Given the description of an element on the screen output the (x, y) to click on. 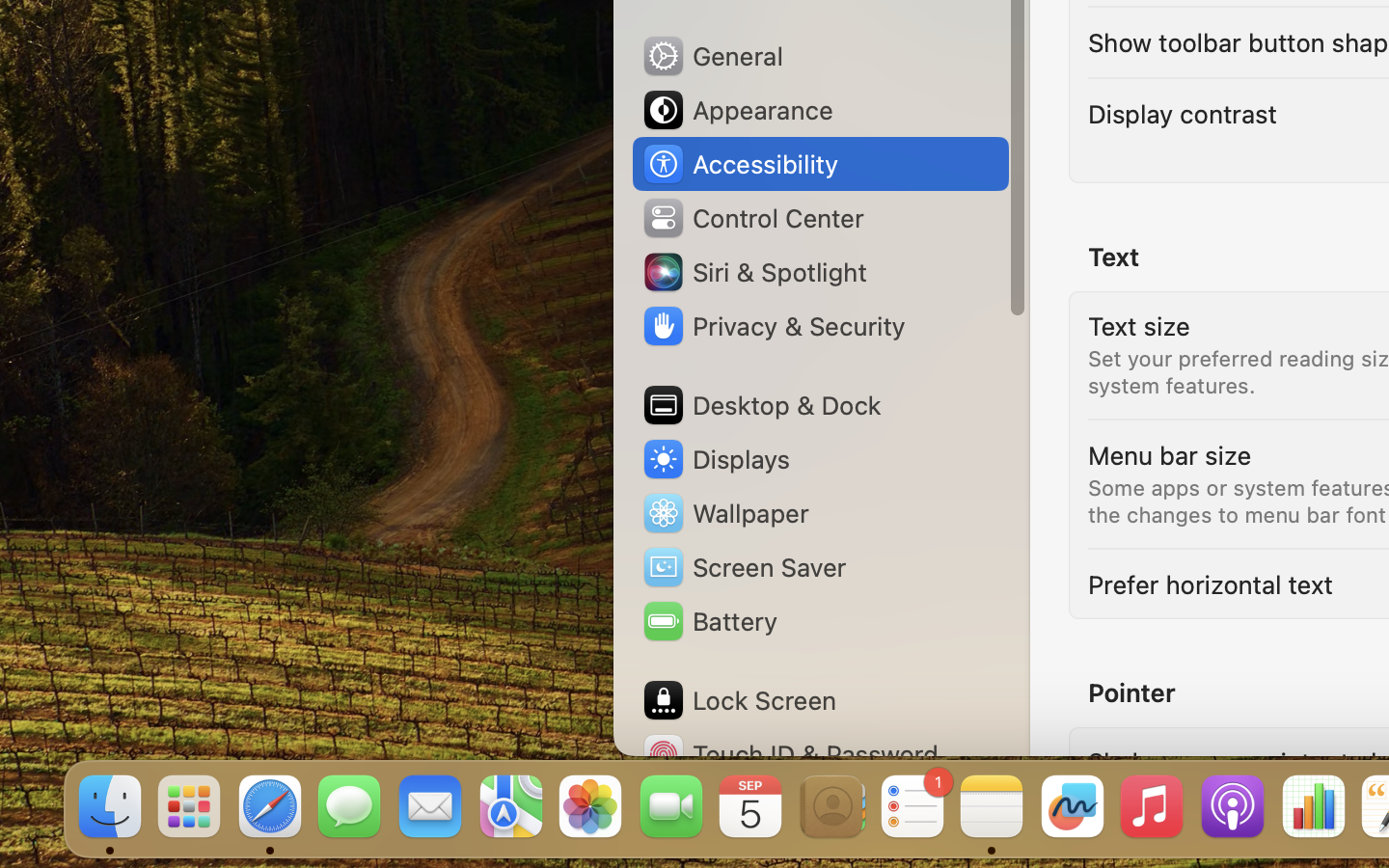
Screen Saver Element type: AXStaticText (743, 566)
Accessibility Element type: AXStaticText (739, 163)
Privacy & Security Element type: AXStaticText (772, 325)
Display contrast Element type: AXStaticText (1182, 113)
Menu bar size Element type: AXStaticText (1170, 454)
